Given the description of an element on the screen output the (x, y) to click on. 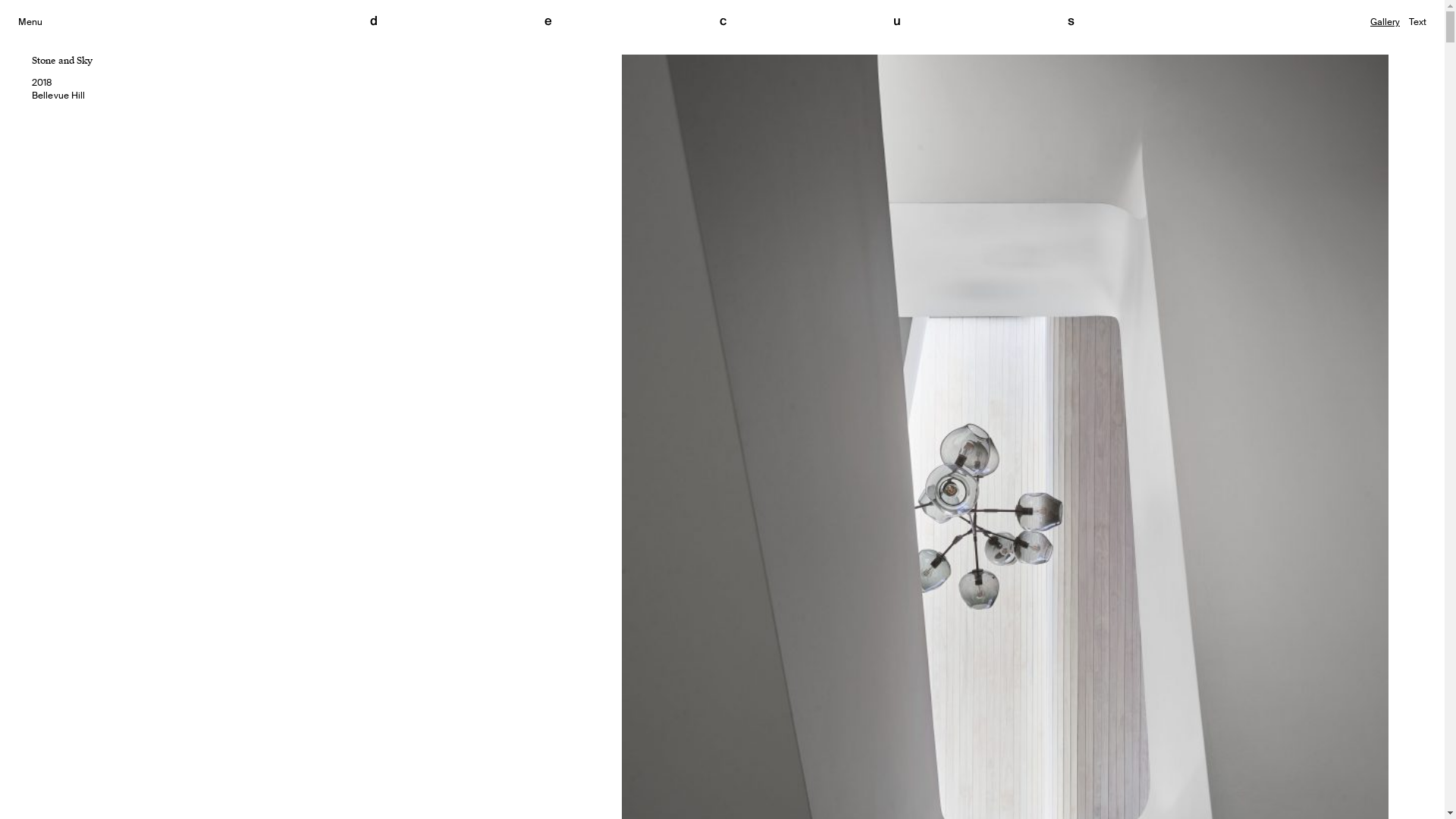
Gallery Element type: text (1384, 21)
Menu Element type: text (30, 21)
Text Element type: text (1417, 21)
